Given the description of an element on the screen output the (x, y) to click on. 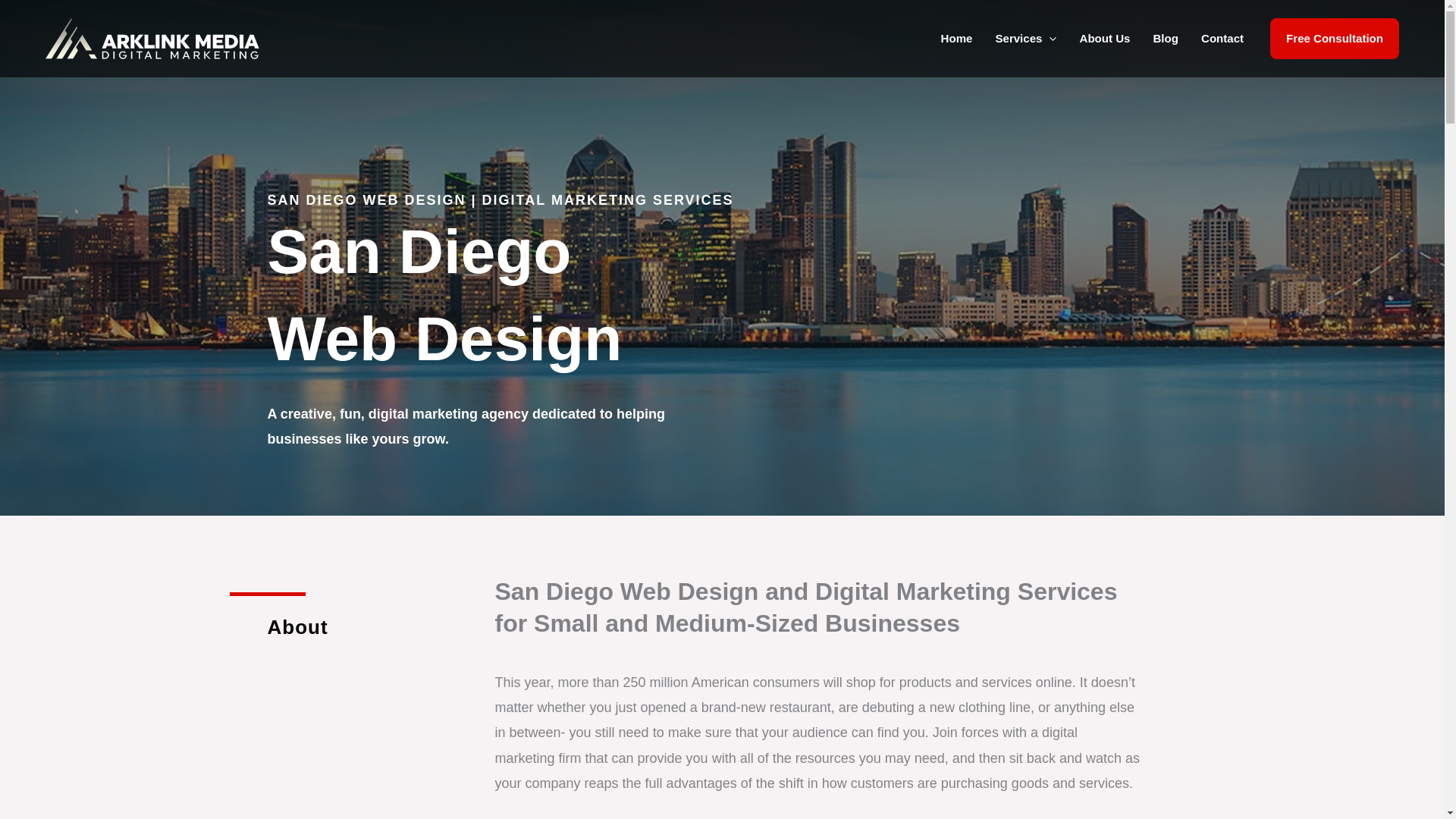
About Us (1104, 38)
Free Consultation (1334, 38)
Services (1025, 38)
